Given the description of an element on the screen output the (x, y) to click on. 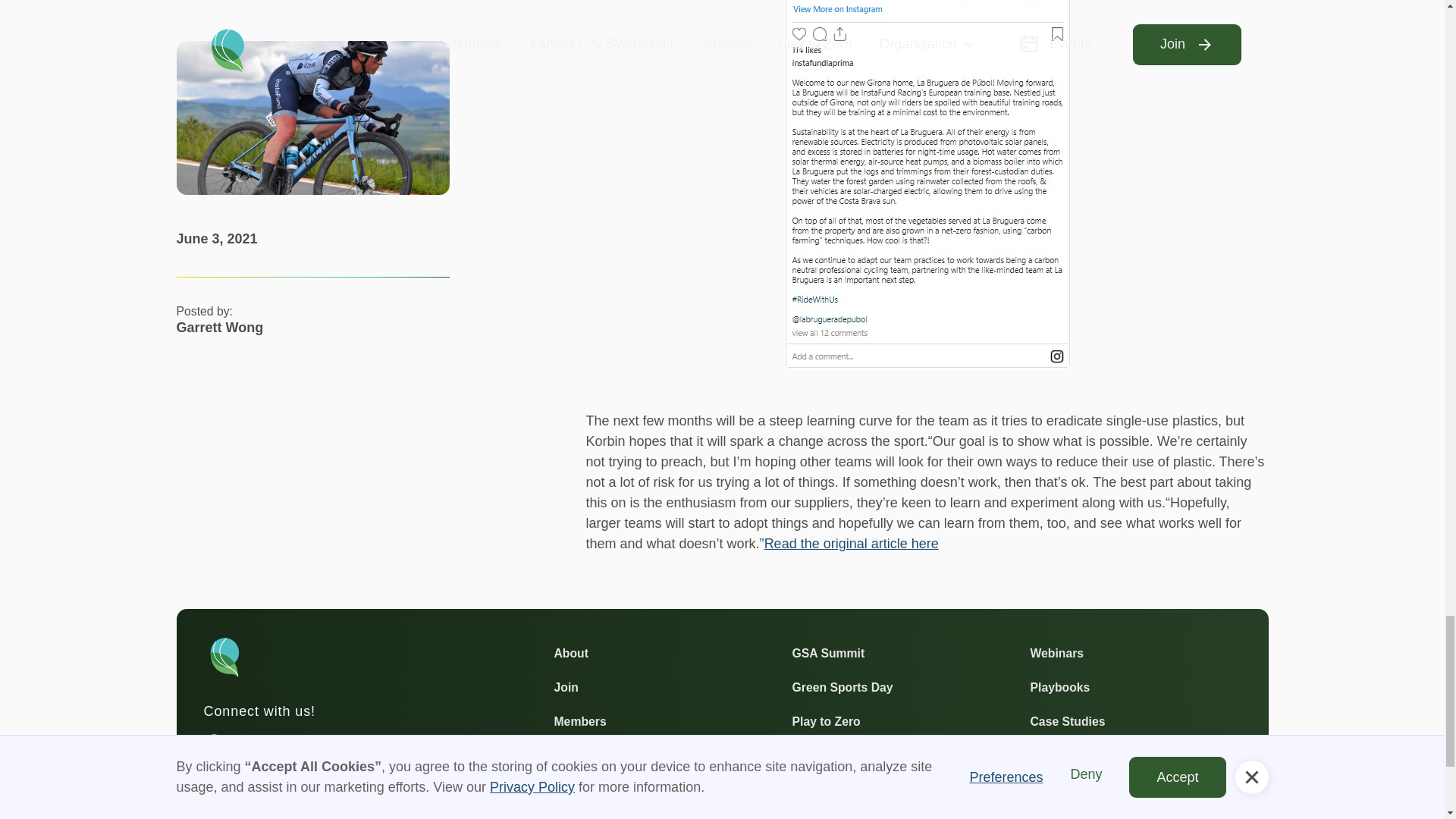
Join (565, 687)
Read the original article here (851, 543)
About (570, 652)
